Given the description of an element on the screen output the (x, y) to click on. 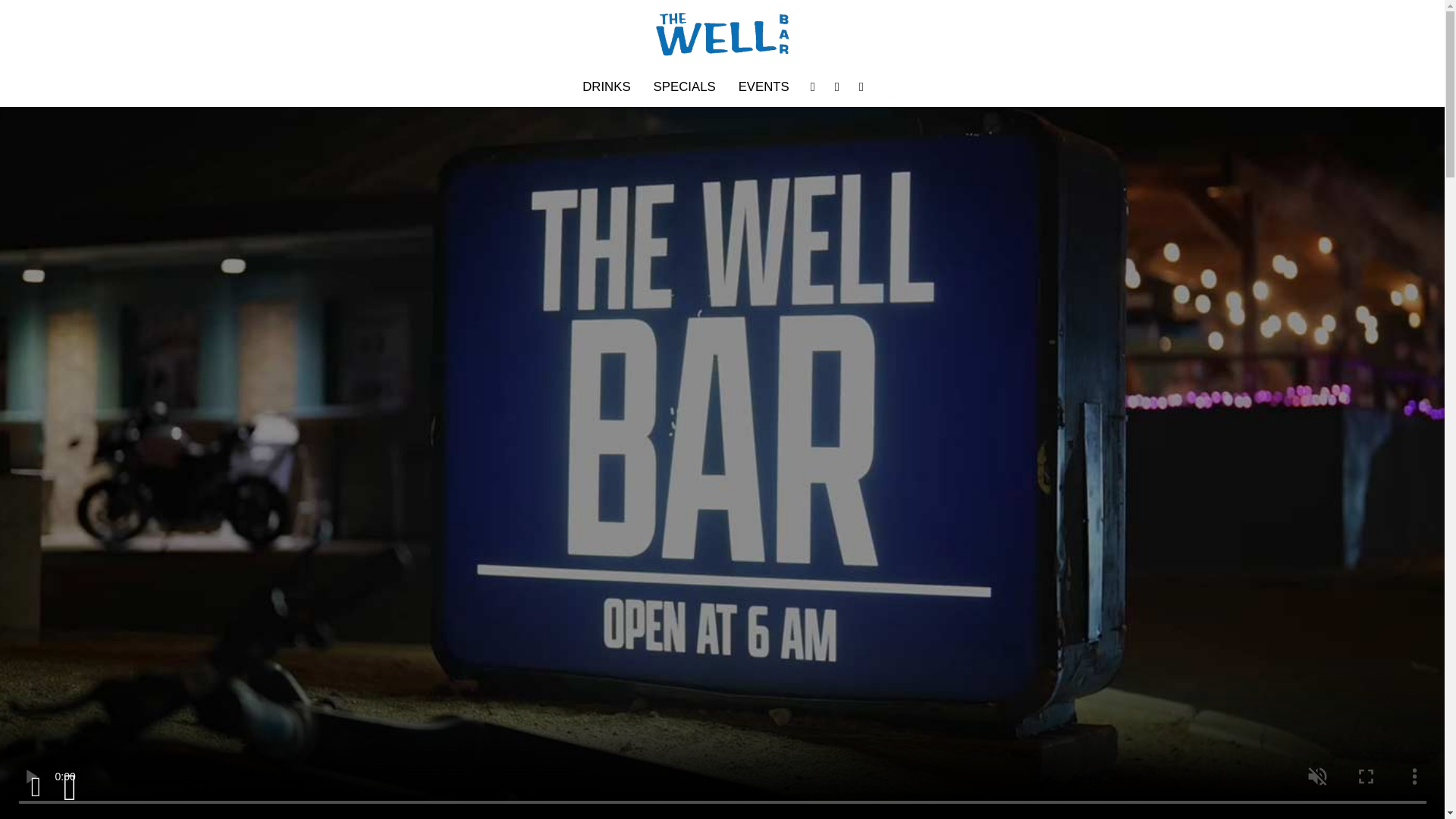
DRINKS (606, 87)
EVENTS (763, 87)
SPECIALS (684, 87)
